Given the description of an element on the screen output the (x, y) to click on. 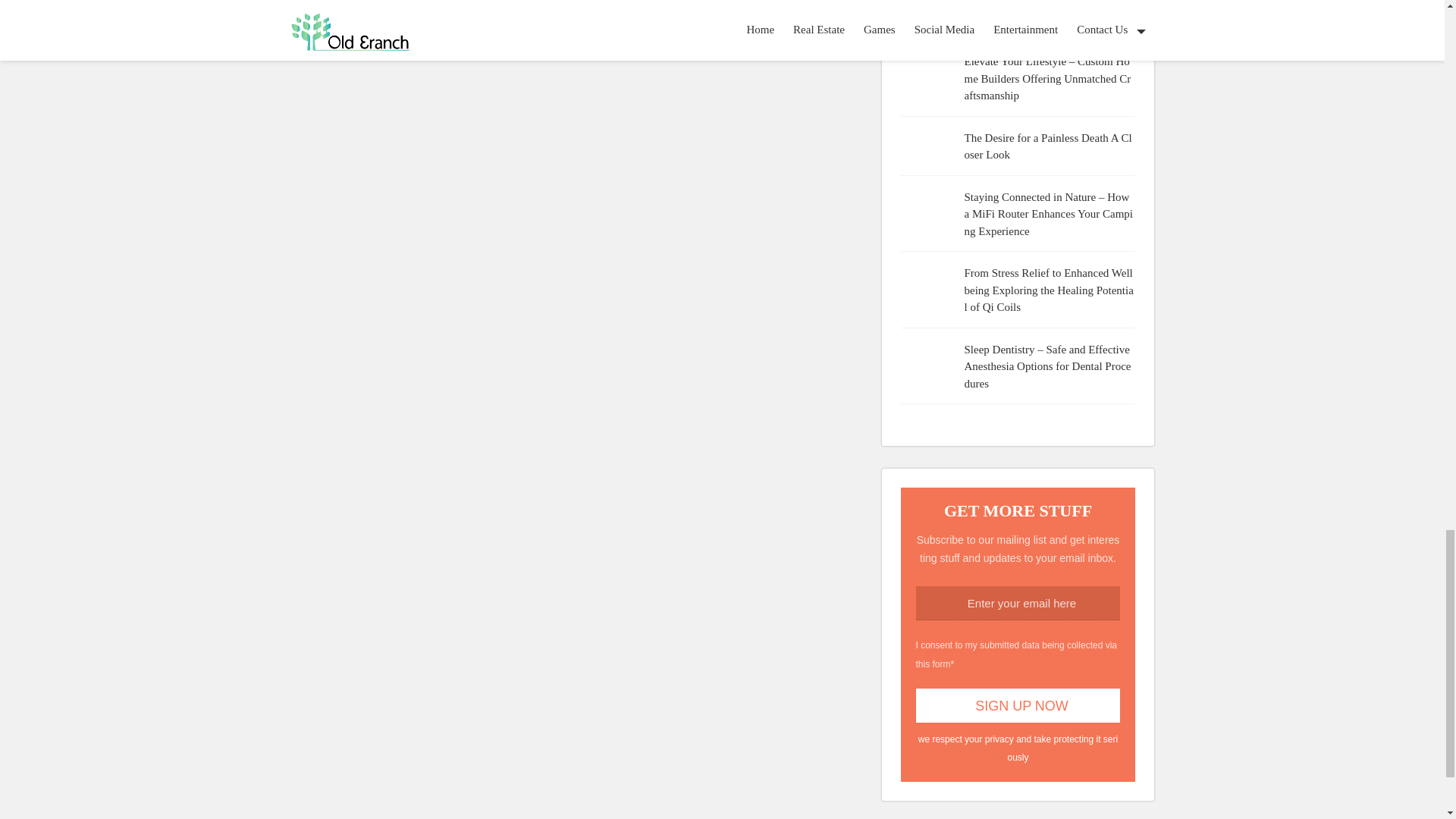
Sign Up Now (1018, 705)
